Given the description of an element on the screen output the (x, y) to click on. 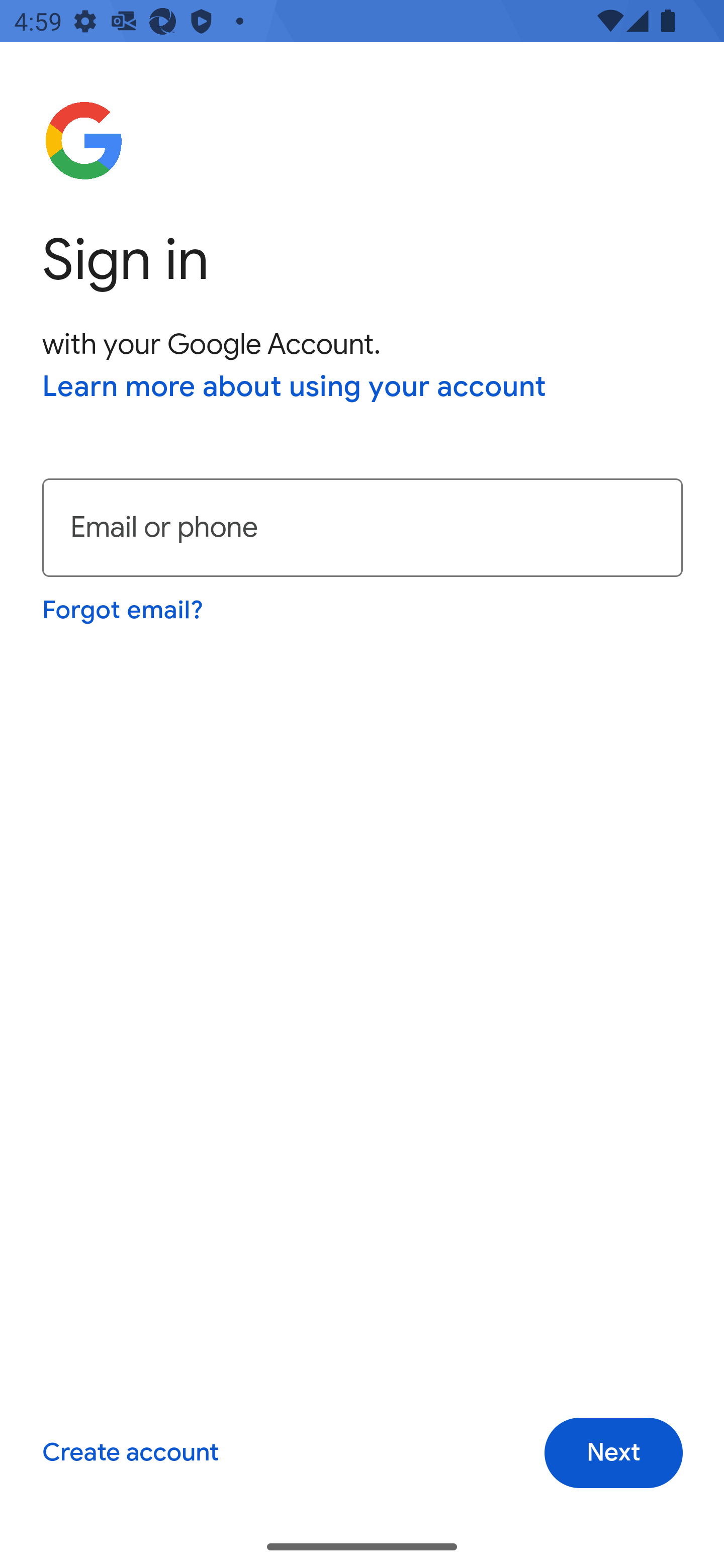
Learn more about using your account (294, 388)
Forgot email? (123, 609)
Next (613, 1453)
Create account (129, 1453)
